Given the description of an element on the screen output the (x, y) to click on. 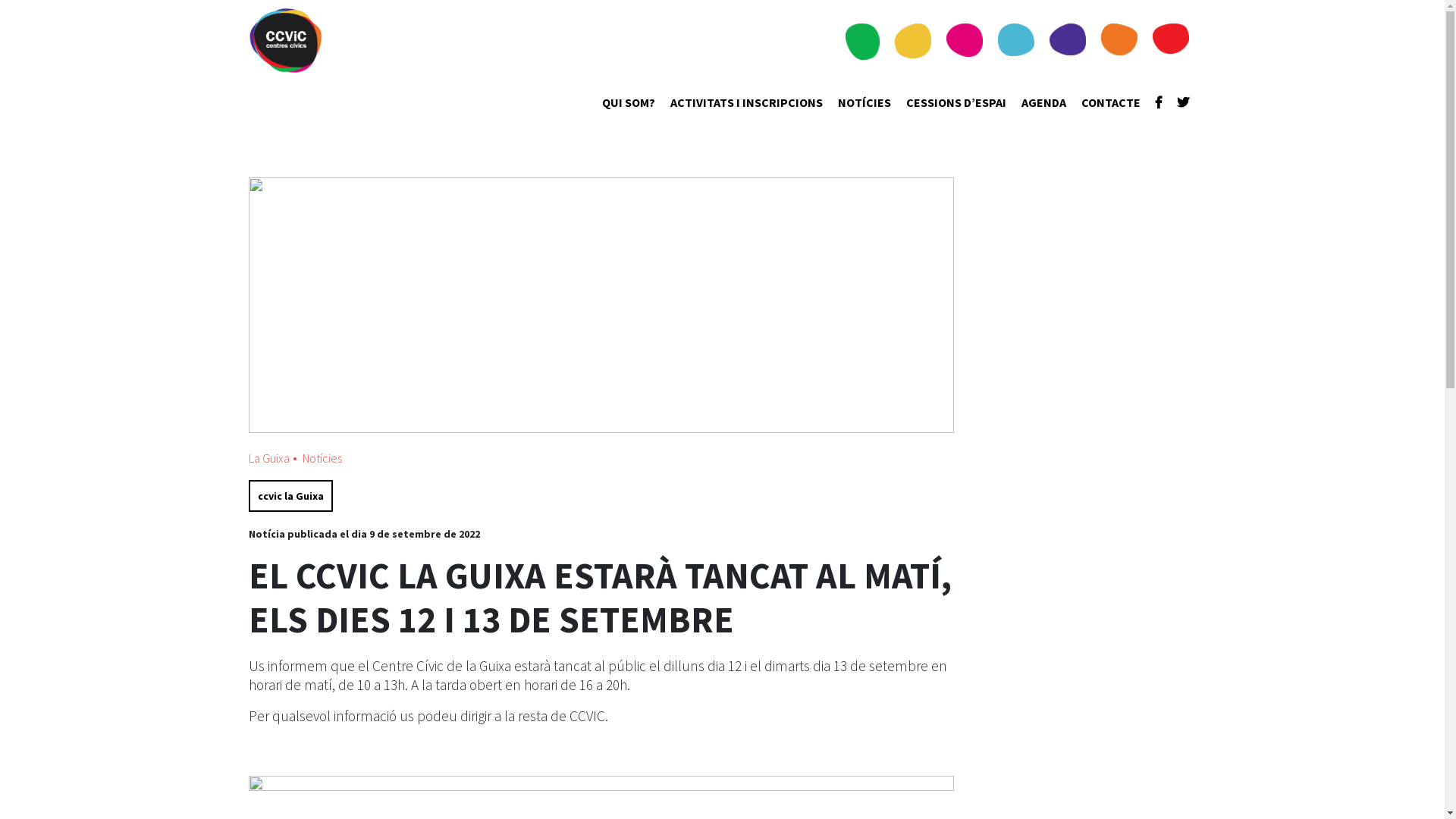
ACTIVITATS I INSCRIPCIONS Element type: text (746, 102)
QUI SOM? Element type: text (628, 102)
CONTACTE Element type: text (1110, 102)
AGENDA Element type: text (1042, 102)
Facebook Element type: hover (1158, 102)
Twitter Element type: hover (1182, 102)
ccvic la Guixa Element type: text (290, 495)
La Guixa Element type: text (268, 457)
